Given the description of an element on the screen output the (x, y) to click on. 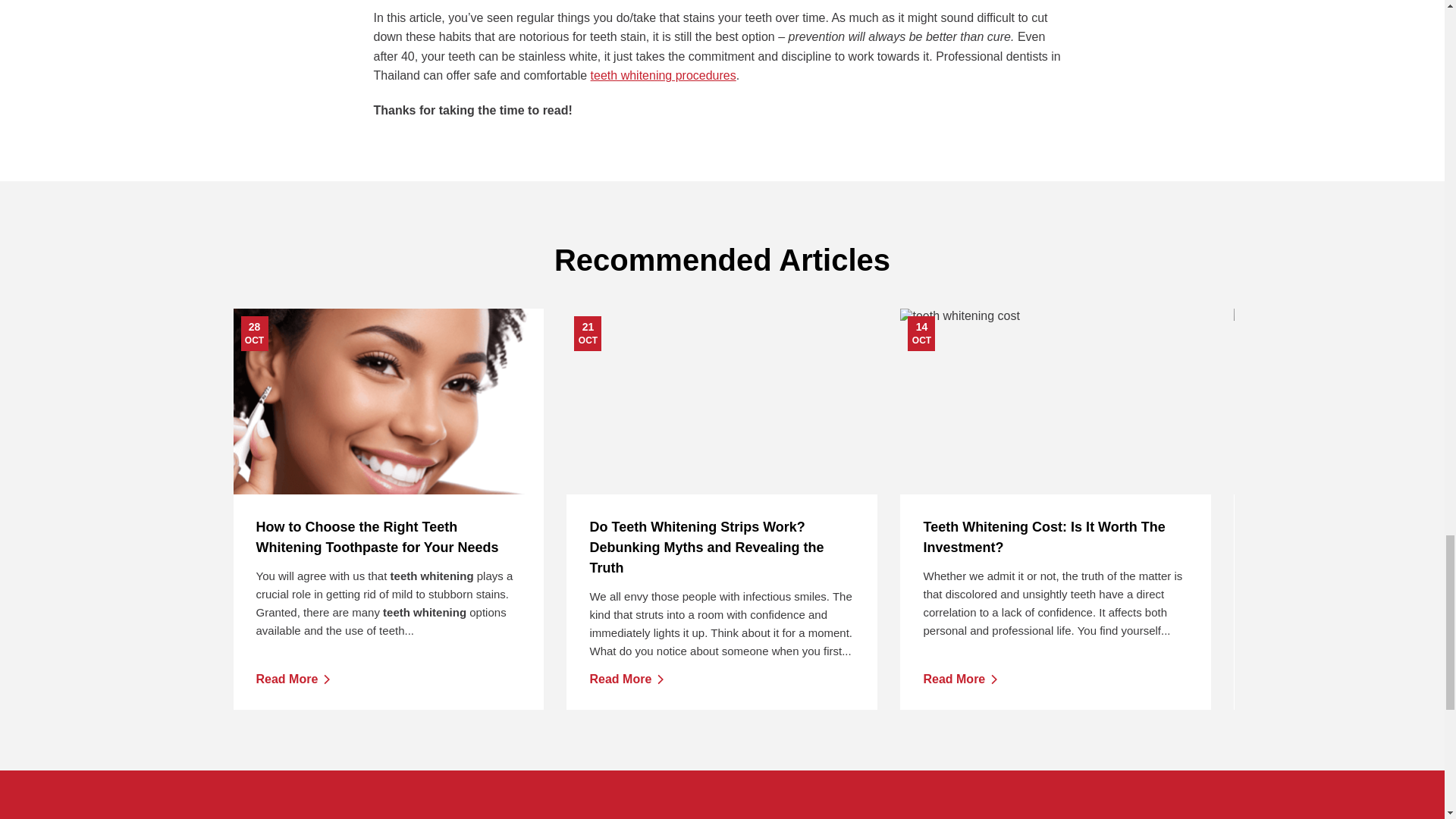
Read More (626, 679)
Read More (388, 400)
Read More (293, 679)
Teeth Whitening Cost: Is It Worth The Investment? (960, 679)
teeth whitening procedures (1055, 536)
